Given the description of an element on the screen output the (x, y) to click on. 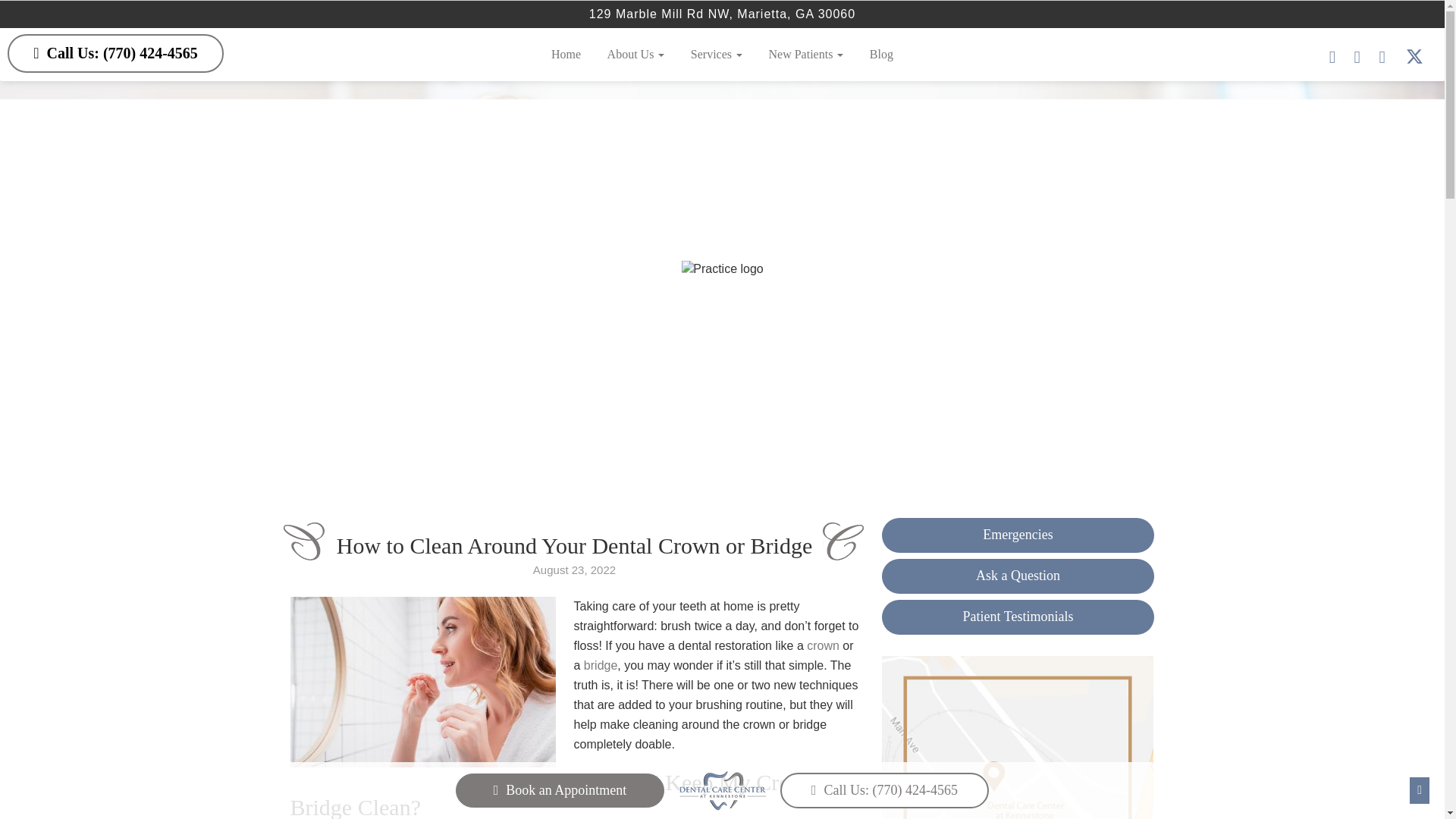
About Us (636, 54)
Home (566, 54)
Marietta GA Dental Crowns (823, 645)
Services (716, 54)
Marietta GA Dental Bridges (600, 665)
